Given the description of an element on the screen output the (x, y) to click on. 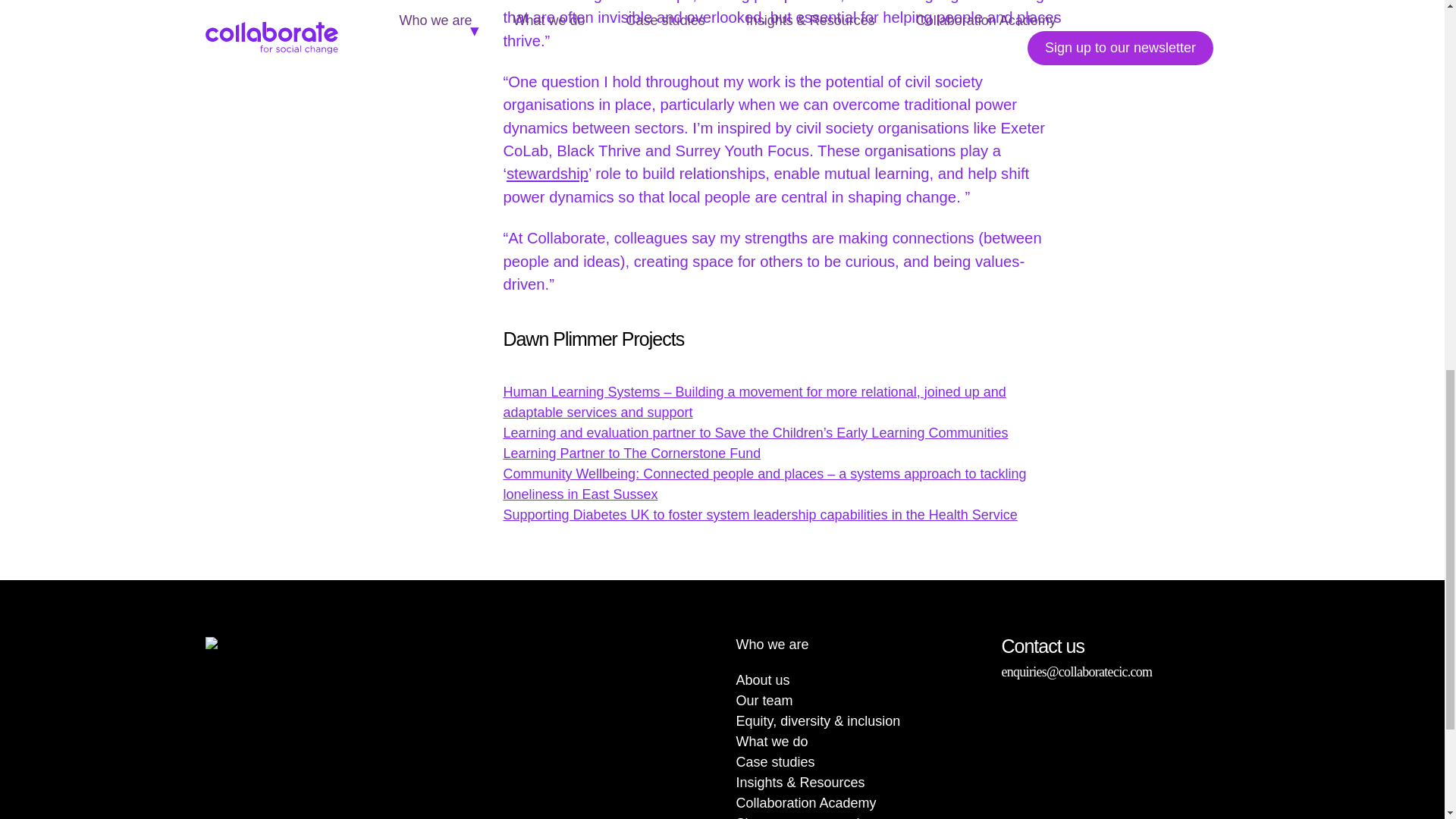
Our team (763, 700)
Case studies (774, 761)
Collaboration Academy (805, 802)
Learning Partner to The Cornerstone Fund (631, 453)
About us (762, 679)
stewardship (547, 173)
Who we are (771, 644)
What we do (771, 741)
Sign up to our newsletter (810, 817)
